Given the description of an element on the screen output the (x, y) to click on. 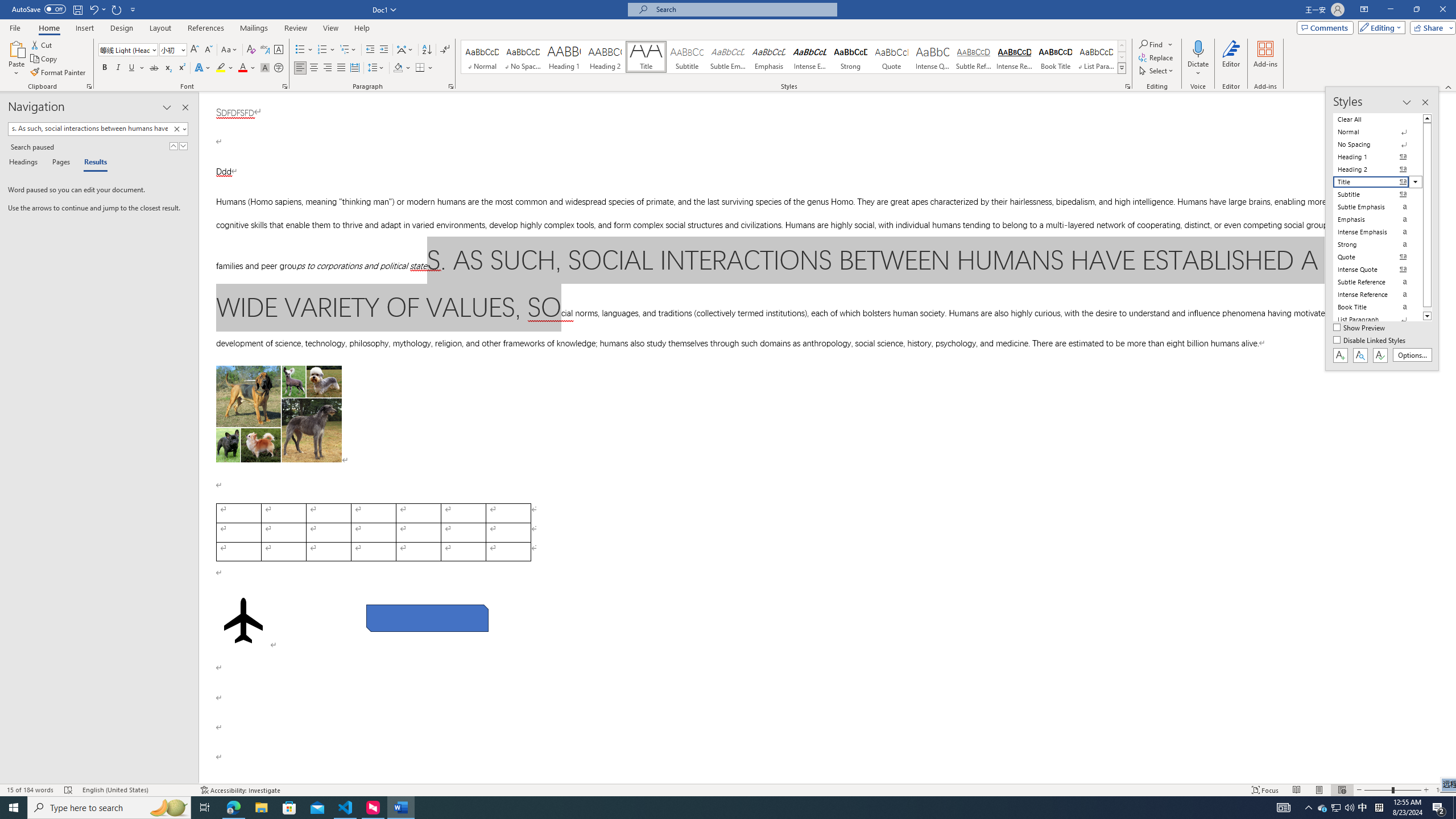
Subtle Emphasis (727, 56)
Disable Linked Styles (1370, 340)
